Given the description of an element on the screen output the (x, y) to click on. 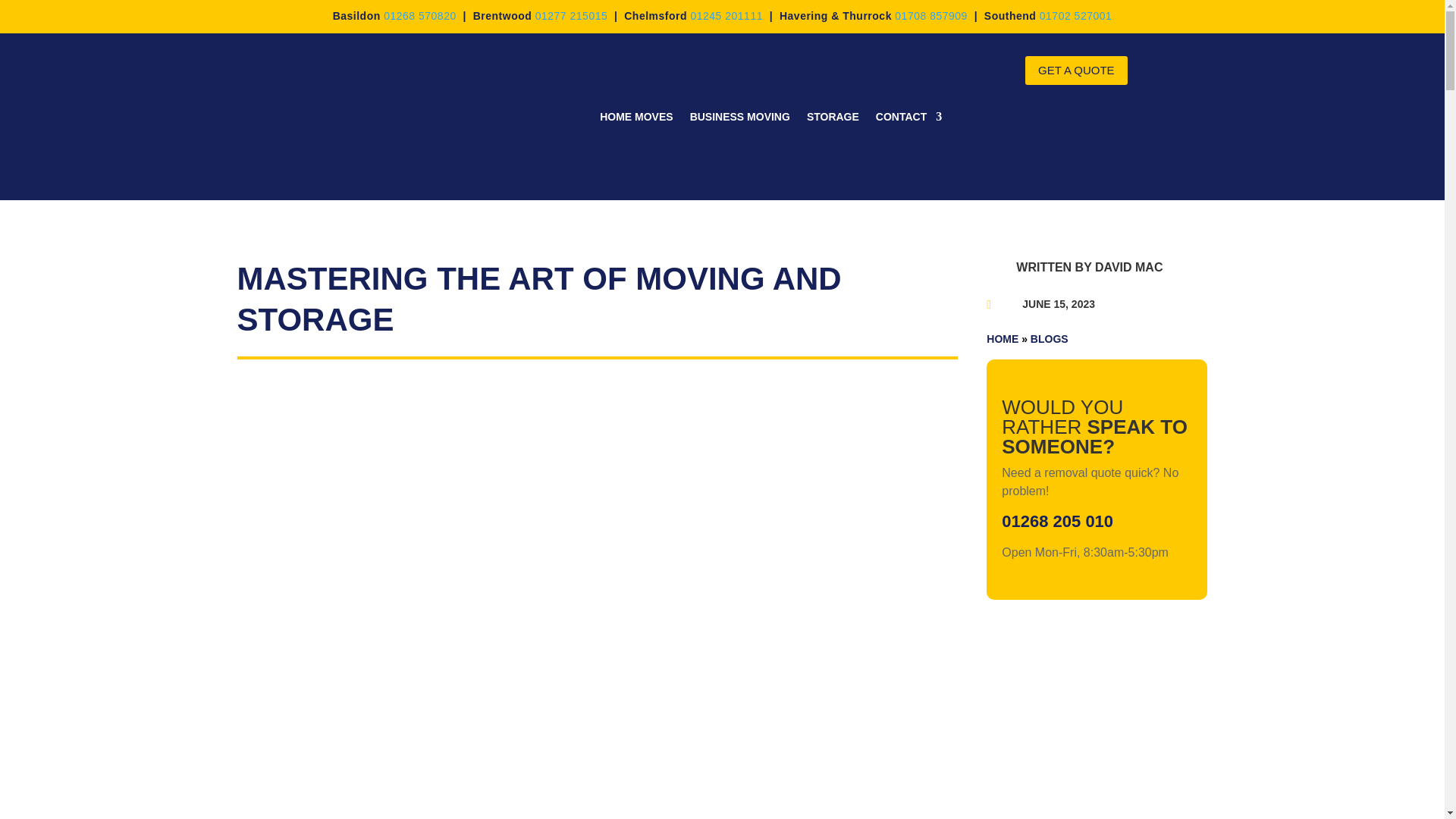
DAVID MAC (1127, 267)
01245 201111 (726, 15)
BLOGS (1049, 338)
GET A QUOTE (1075, 70)
01708 857909 (931, 15)
HOME (1002, 338)
01277 215015 (571, 15)
01702 527001 (1075, 15)
01268 570820 (420, 15)
